Given the description of an element on the screen output the (x, y) to click on. 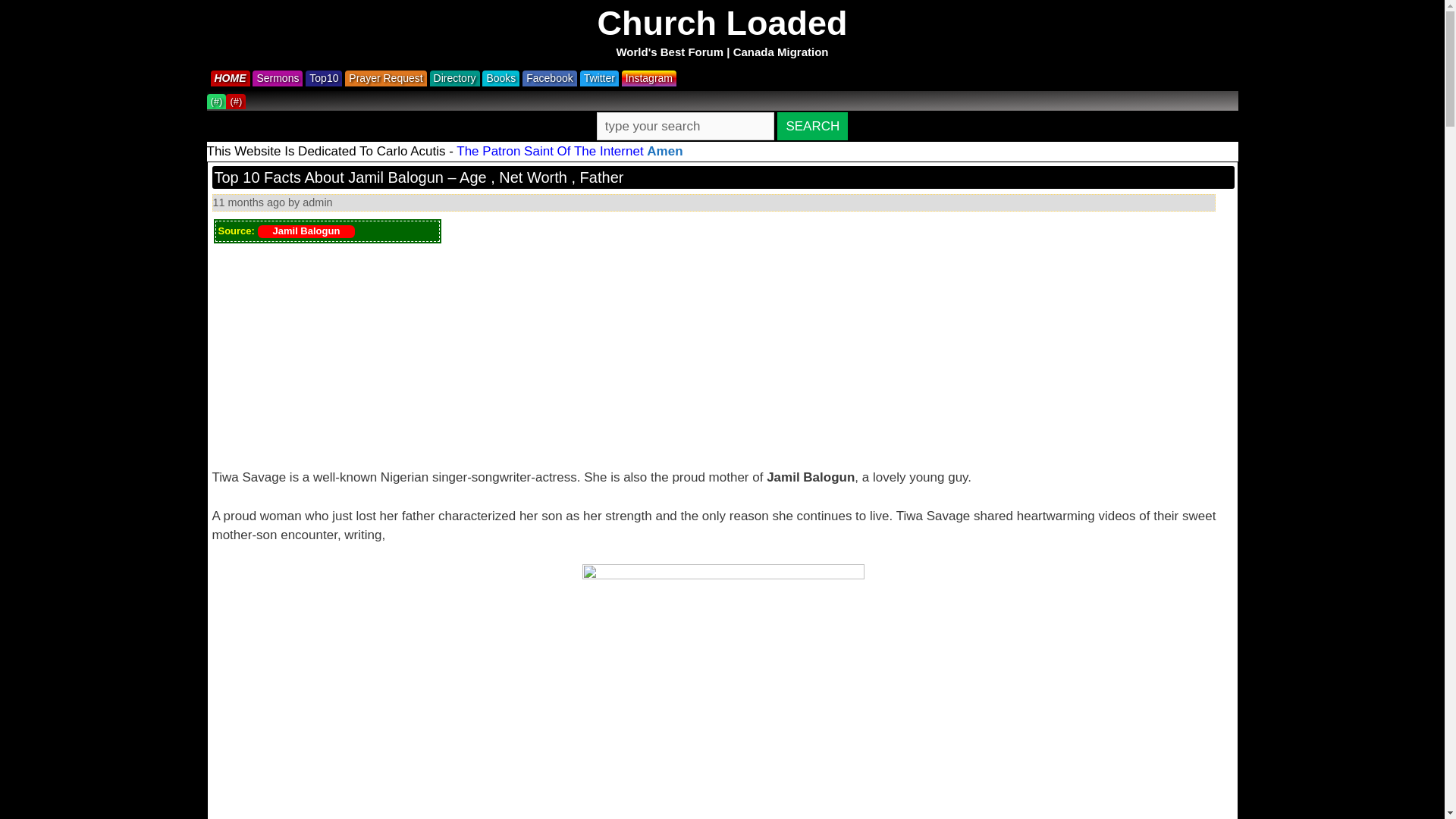
admin (316, 202)
Facebook (550, 77)
11 months ago (248, 202)
SEARCH (812, 126)
Books (501, 77)
HOME (232, 77)
Jamil Balogun (306, 231)
Church Loaded (721, 23)
type your search (685, 126)
